Given the description of an element on the screen output the (x, y) to click on. 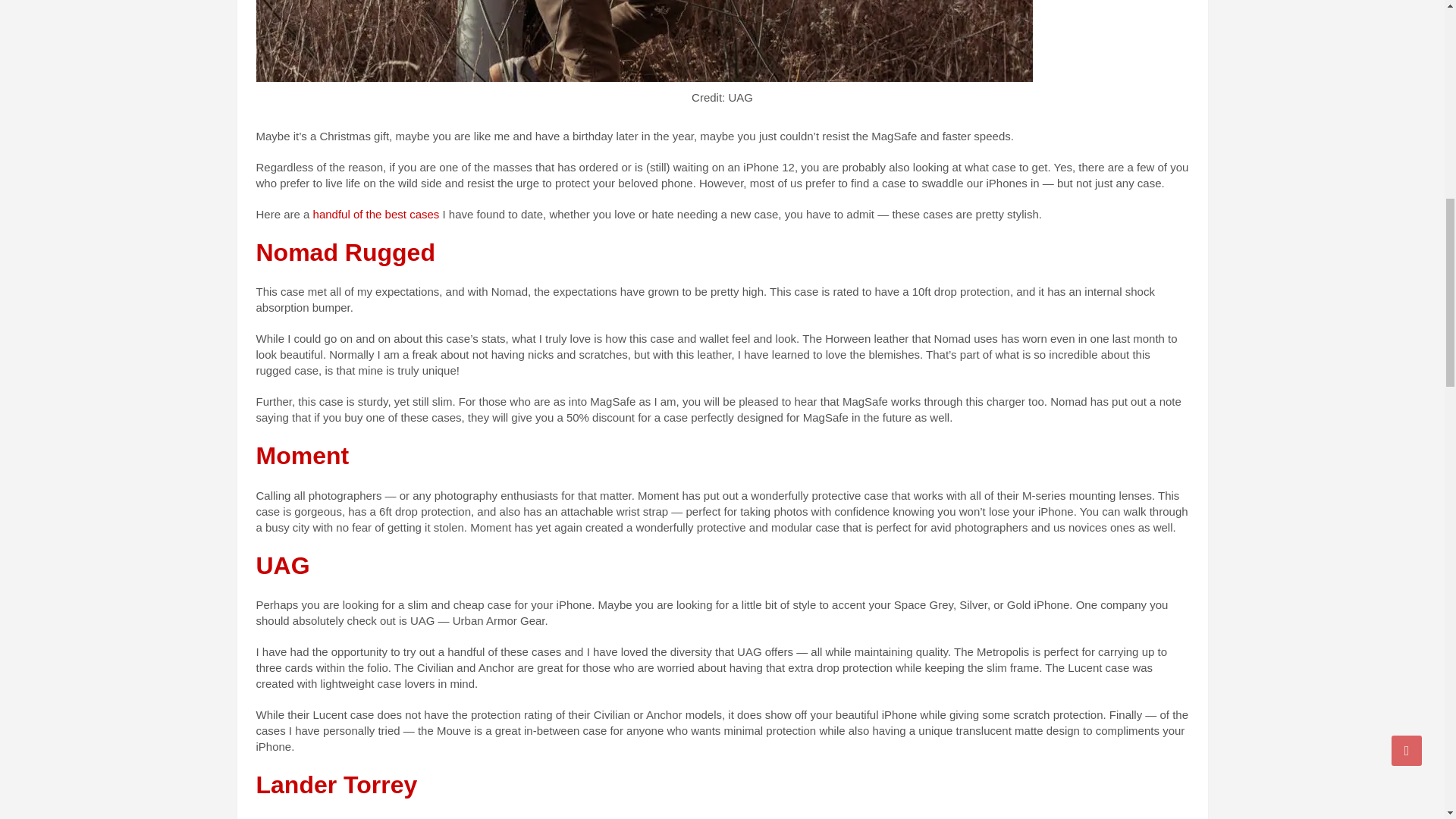
Moment (302, 455)
Nomad Rugged (345, 252)
UAG (283, 565)
handful of the best cases (376, 214)
Lander Torrey (336, 784)
